Given the description of an element on the screen output the (x, y) to click on. 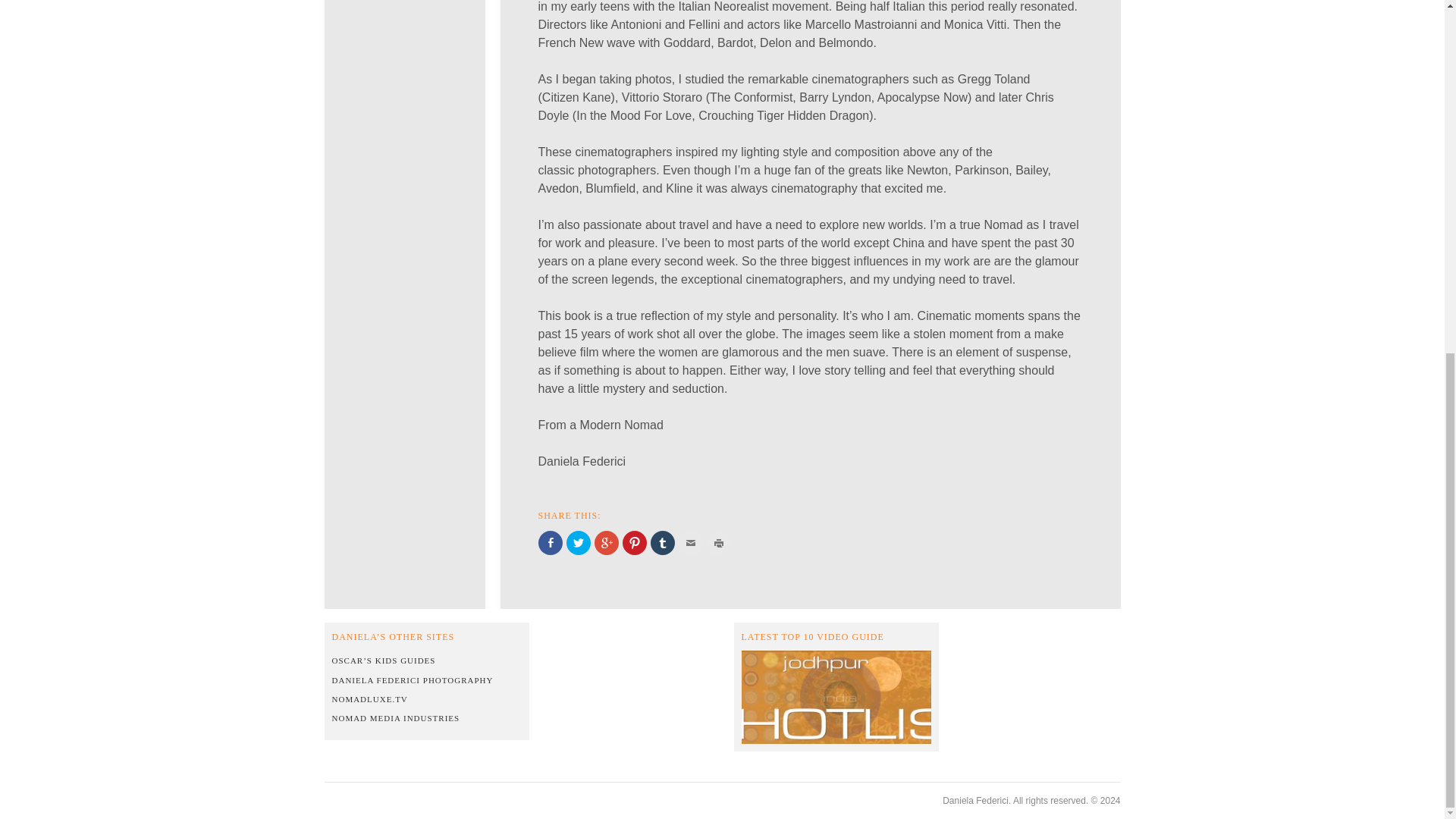
Click to share on Twitter (577, 542)
Share on Facebook (550, 542)
Click to email this to a friend (689, 542)
Click to print (718, 542)
Click to share on Pinterest (633, 542)
Click to share on Tumblr (662, 542)
